Given the description of an element on the screen output the (x, y) to click on. 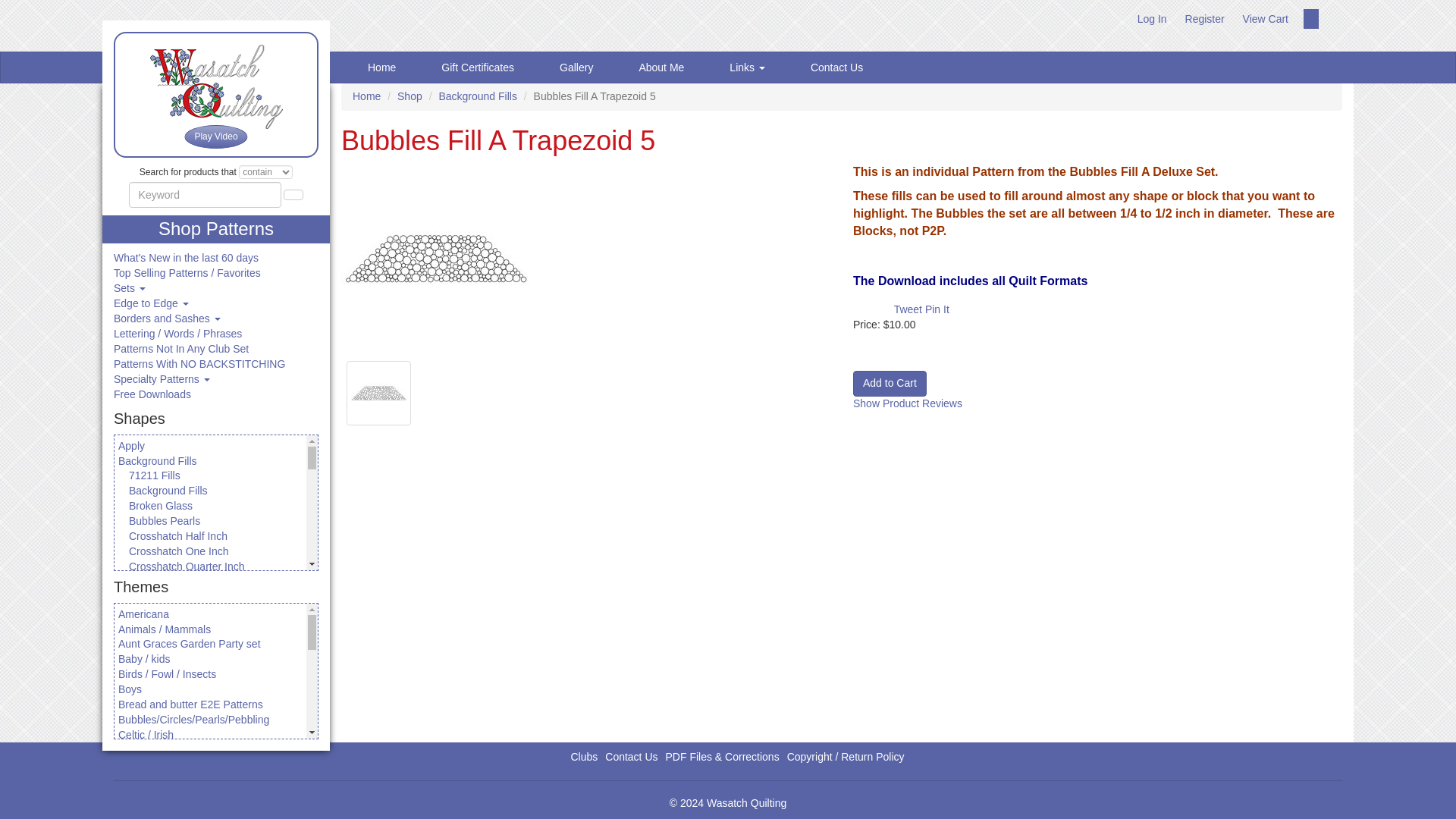
Background Fills (156, 460)
Borders and Sashes (167, 318)
Bubbles Pearls (164, 521)
Play Video (215, 136)
Edge to Edge (151, 303)
Background Fills (168, 490)
Patterns With NO BACKSTITCHING (199, 363)
Specialty Patterns (161, 378)
Broken Glass (160, 505)
Add to Cart (889, 383)
Log In (1152, 19)
Apply (130, 445)
Free Downloads (151, 394)
Crosshatch One Inch (178, 551)
Crosshatch Half Inch (178, 535)
